Given the description of an element on the screen output the (x, y) to click on. 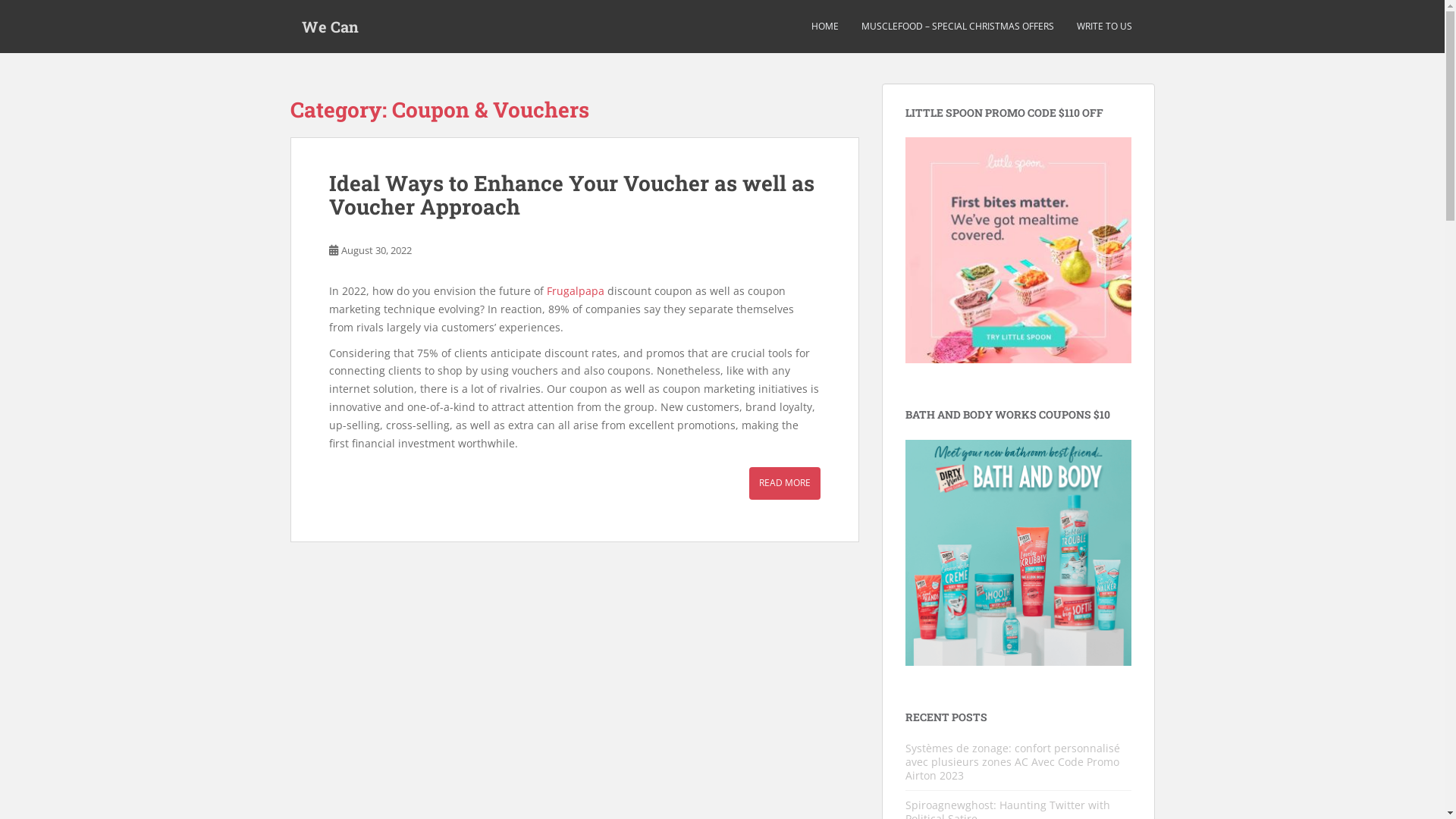
August 30, 2022 Element type: text (376, 250)
READ MORE Element type: text (784, 482)
We Can Element type: text (329, 26)
Frugalpapa Element type: text (574, 290)
HOME Element type: text (824, 26)
WRITE TO US Element type: text (1104, 26)
